Given the description of an element on the screen output the (x, y) to click on. 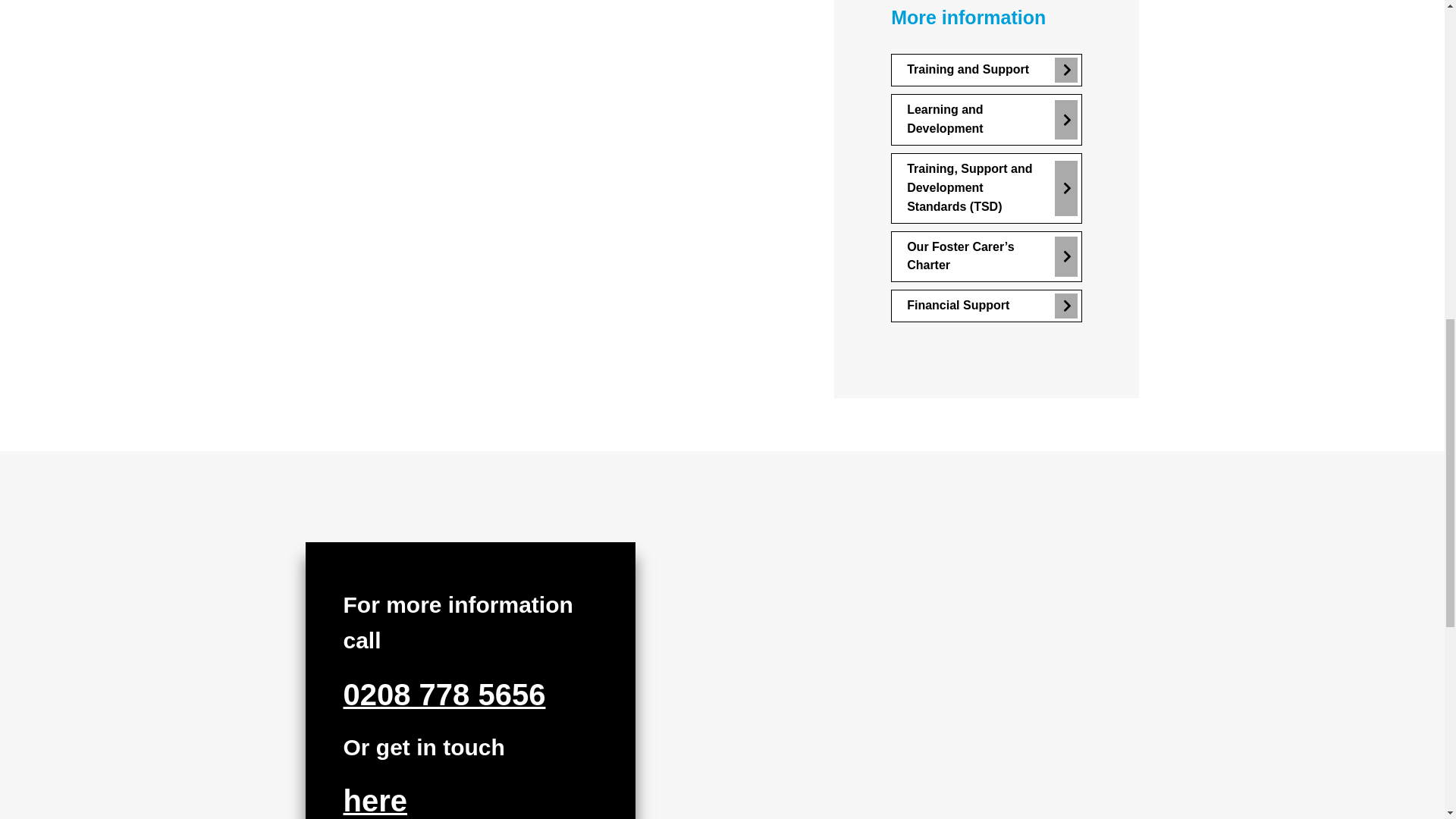
0208 778 5656 (443, 696)
Financial Support (986, 305)
Learning and Development (986, 119)
Training and Support (986, 70)
here (374, 803)
